Given the description of an element on the screen output the (x, y) to click on. 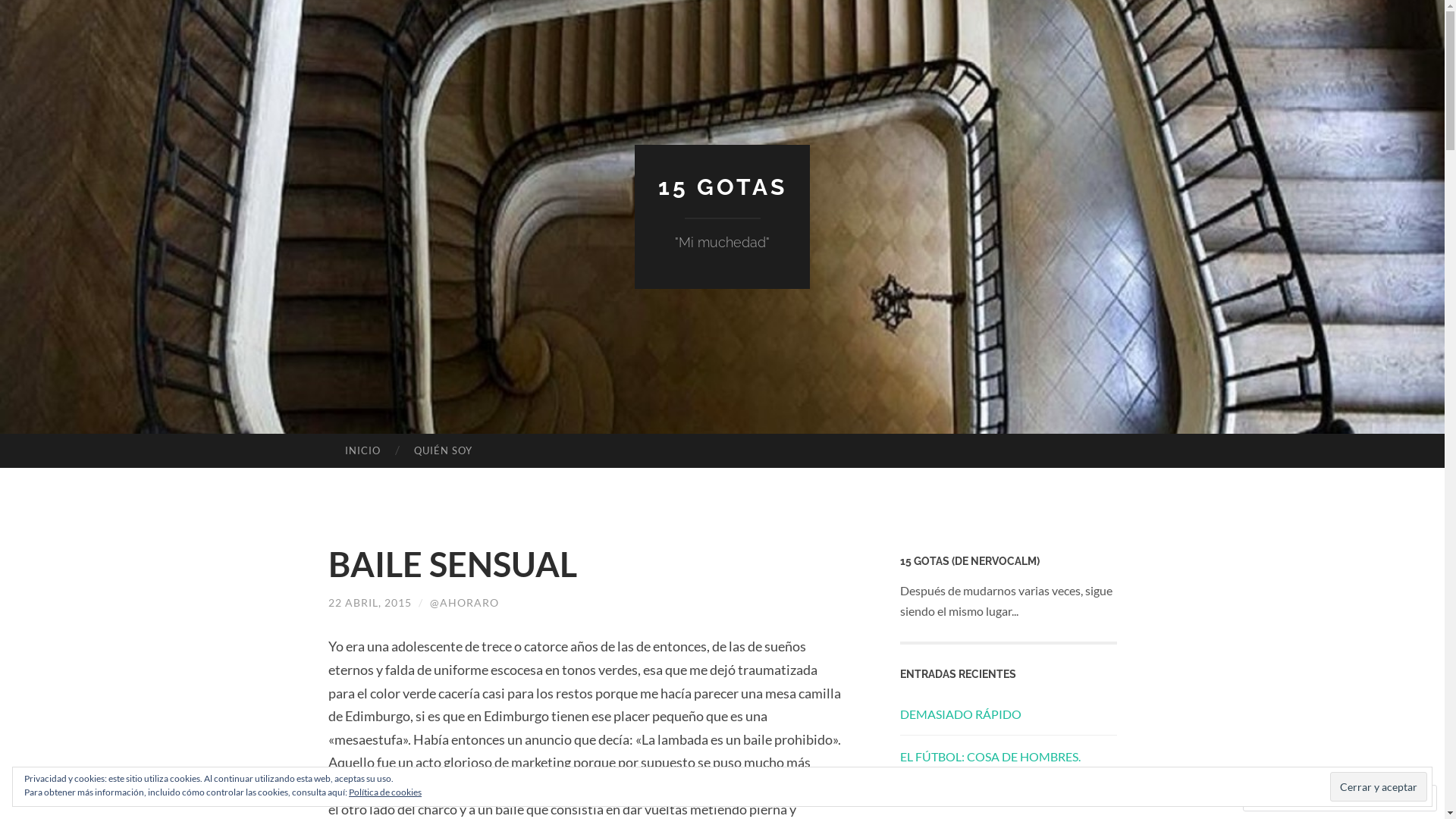
@AHORARO Element type: text (463, 602)
Seguir Element type: text (1372, 797)
15 GOTAS Element type: text (722, 186)
Cerrar y aceptar Element type: text (1378, 786)
Comentarios Element type: text (1291, 797)
22 ABRIL, 2015 Element type: text (369, 602)
IDEAS FRITAS Element type: text (936, 797)
INICIO Element type: text (361, 450)
